Given the description of an element on the screen output the (x, y) to click on. 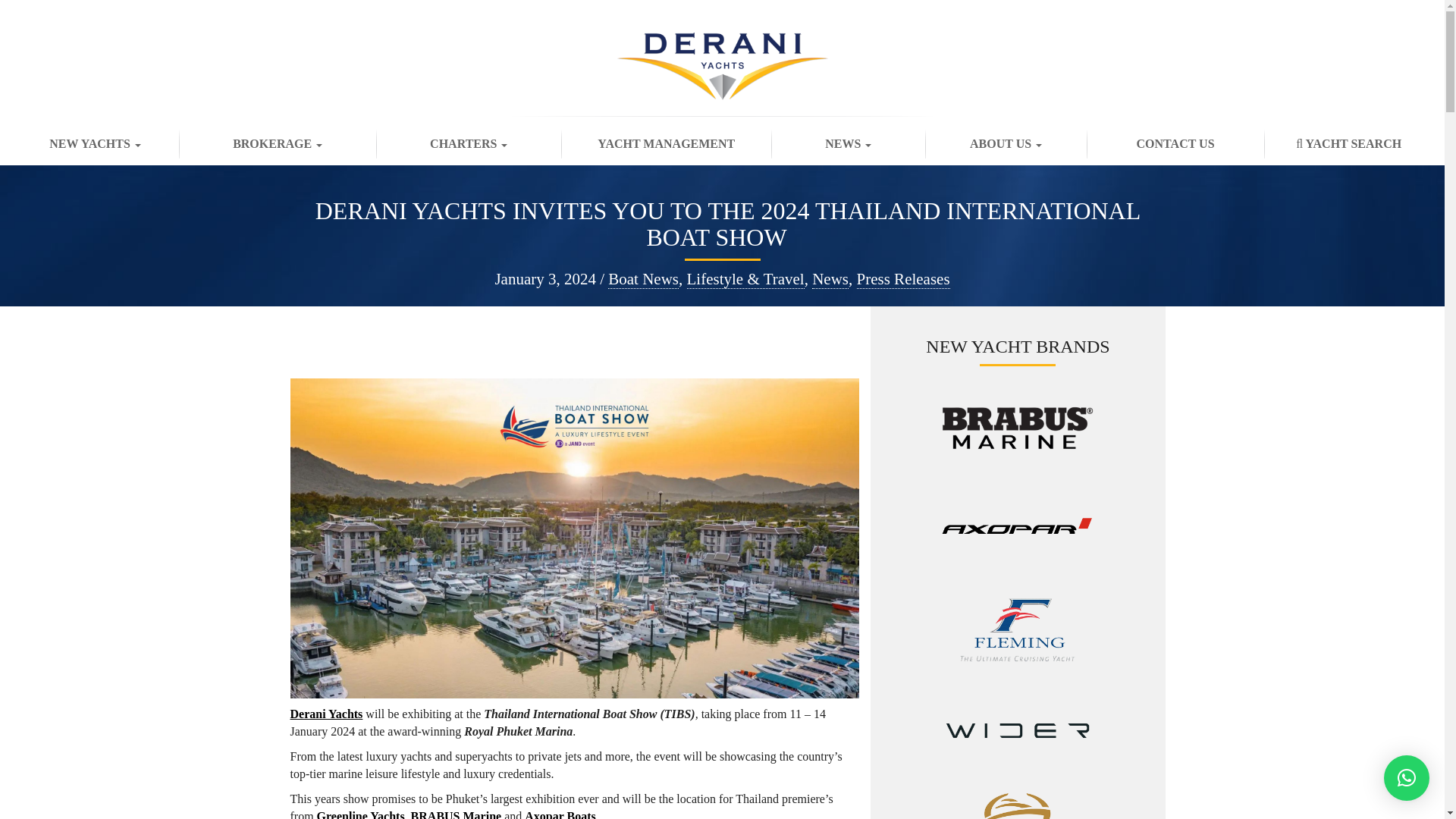
CHARTERS (467, 144)
CONTACT US (1174, 144)
YACHT MANAGEMENT (665, 144)
News (830, 279)
YACHT SEARCH (1347, 144)
Press Releases (903, 279)
NEW YACHTS (95, 144)
ABOUT US (1005, 144)
Boat News (643, 279)
BROKERAGE (277, 144)
